Given the description of an element on the screen output the (x, y) to click on. 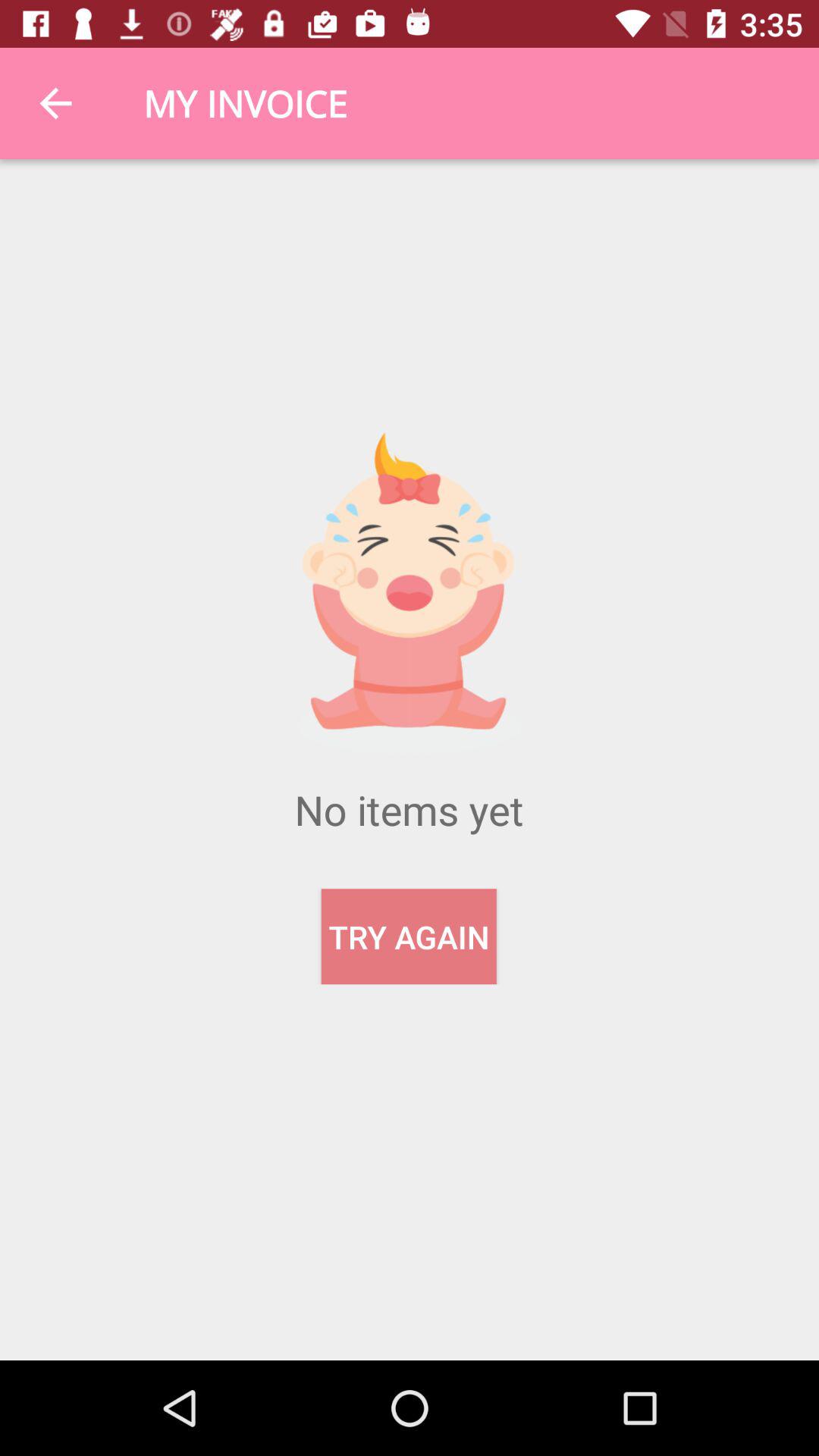
select item to the left of the my invoice (55, 103)
